Given the description of an element on the screen output the (x, y) to click on. 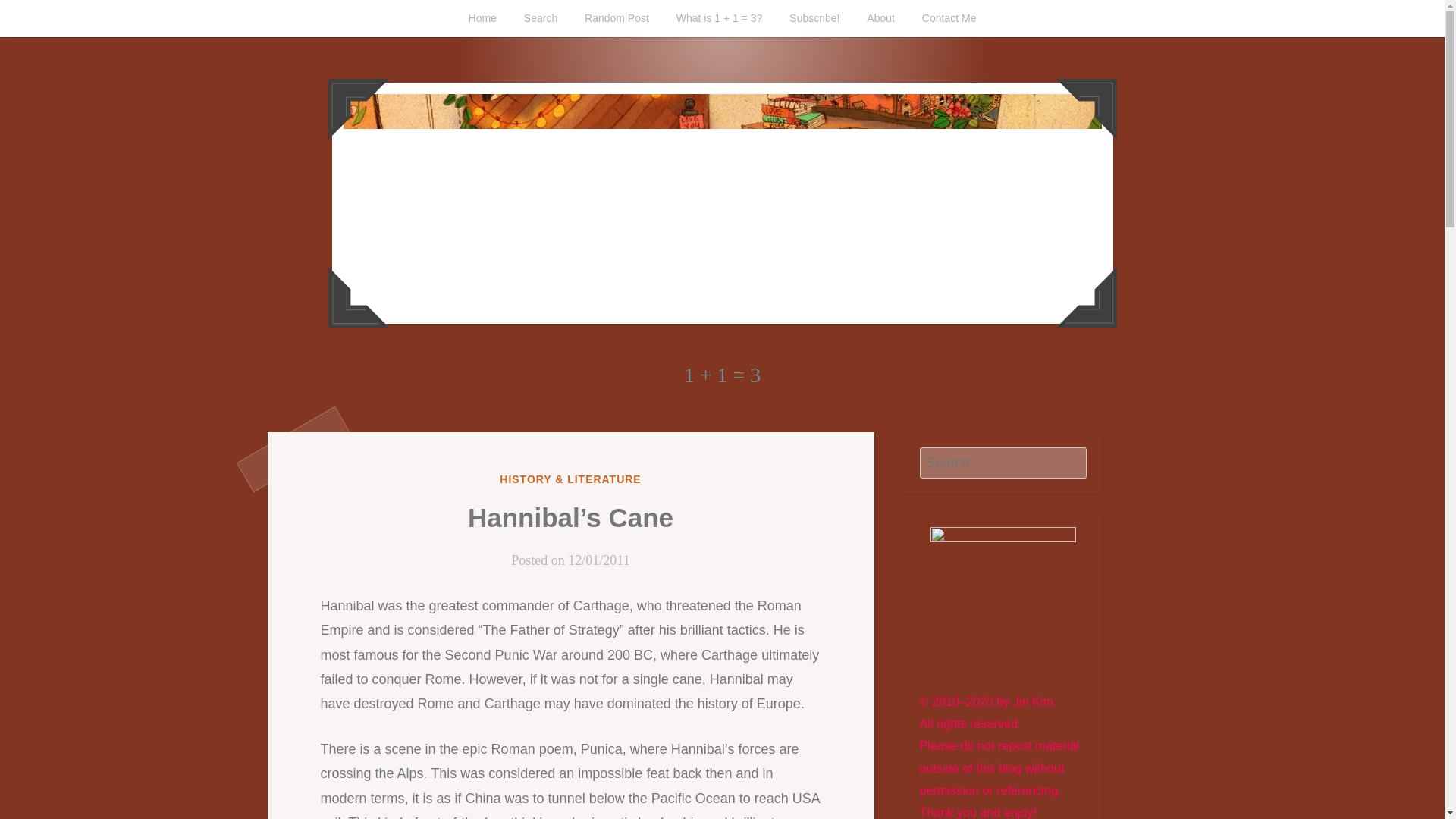
Search (1070, 462)
About (880, 18)
Random Post (616, 18)
Home (482, 18)
Search (1070, 462)
Search (1070, 462)
Search (540, 18)
Subscribe! (814, 18)
Contact Me (949, 18)
